Given the description of an element on the screen output the (x, y) to click on. 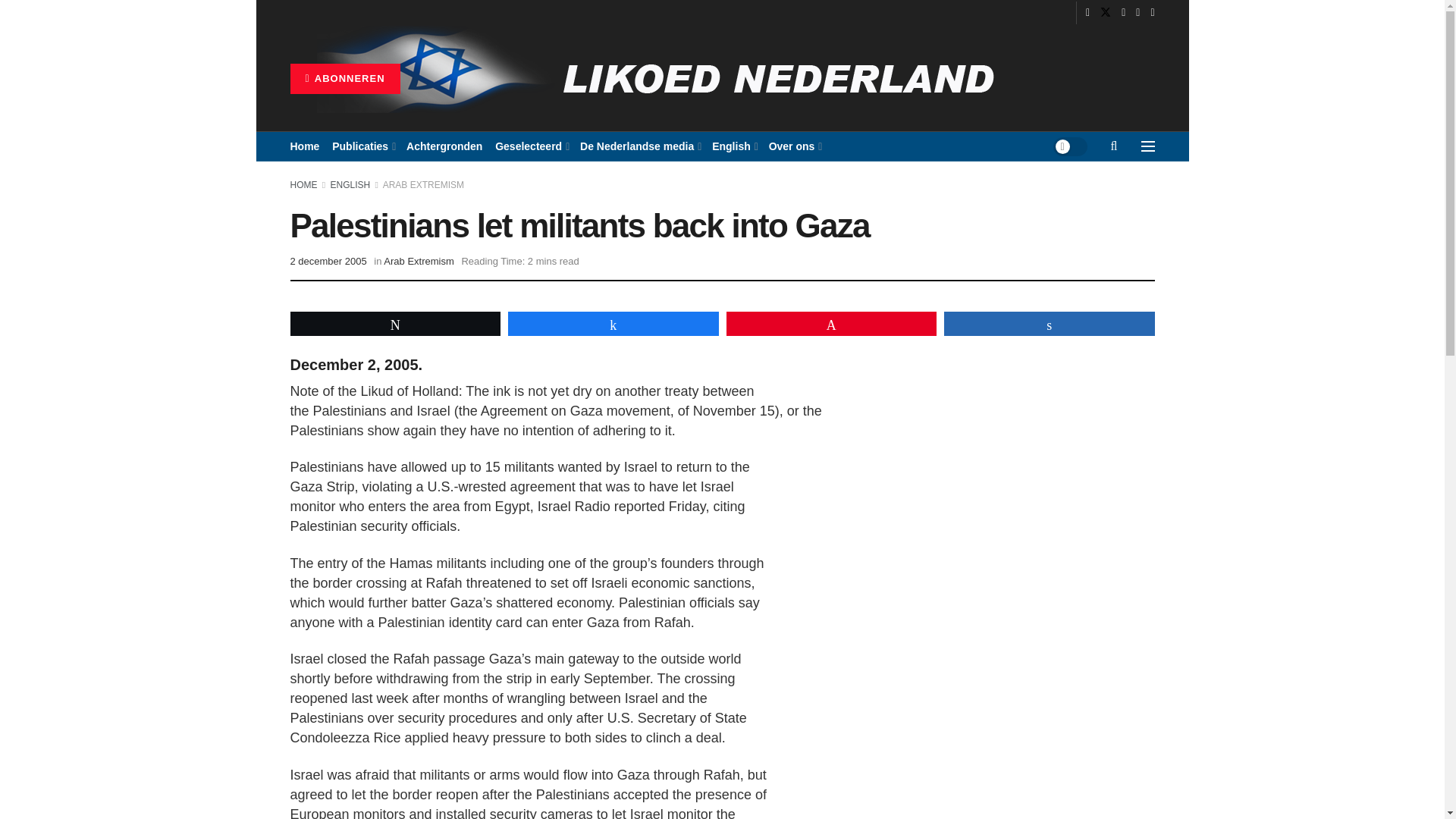
ABONNEREN (343, 78)
Home (303, 145)
Over ons (794, 145)
Achtergronden (443, 145)
Geselecteerd (531, 145)
De Nederlandse media (638, 145)
English (733, 145)
Publicaties (362, 145)
